Given the description of an element on the screen output the (x, y) to click on. 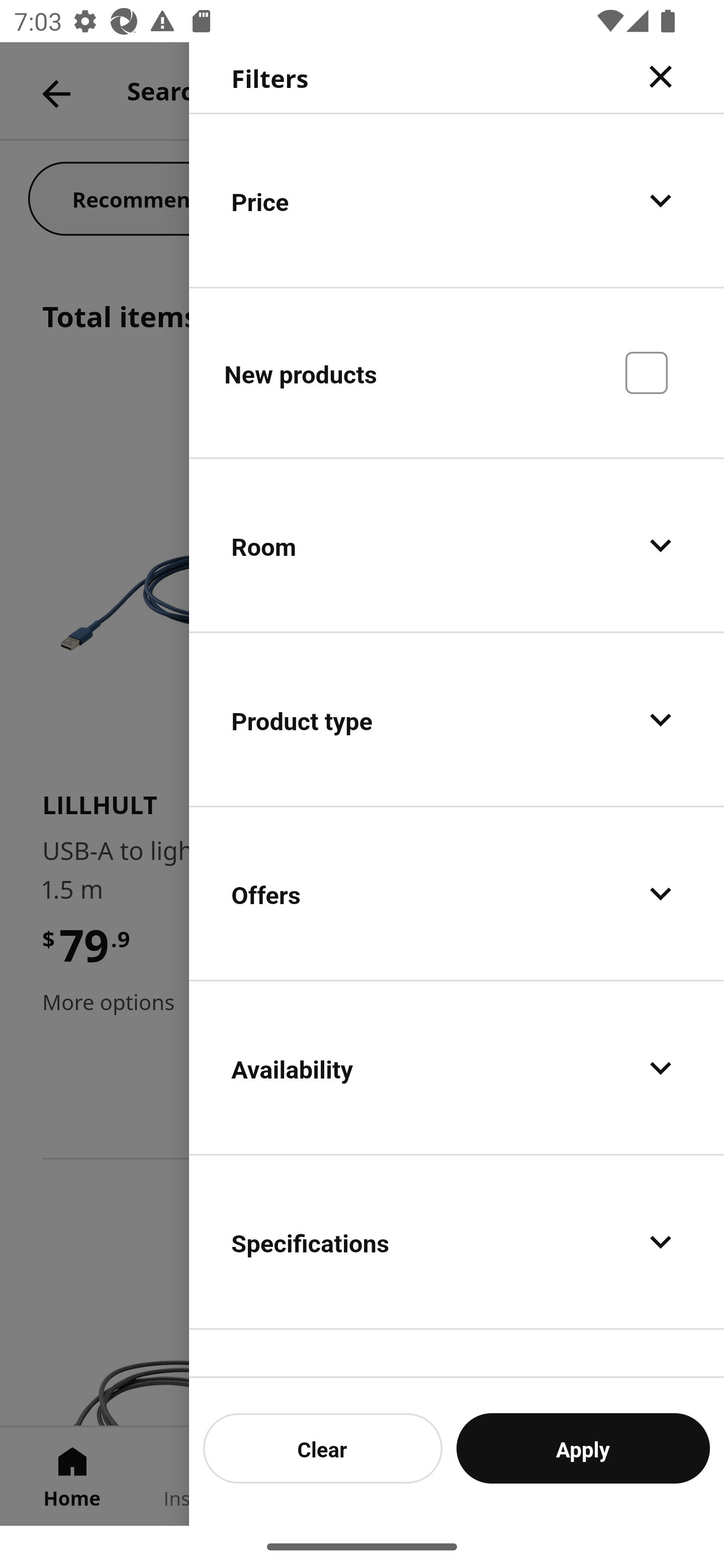
Price (456, 200)
New products (456, 371)
Room (456, 545)
Product type (456, 719)
Offers (456, 893)
Availability (456, 1067)
Specifications (456, 1241)
Clear (322, 1447)
Apply (583, 1447)
